Given the description of an element on the screen output the (x, y) to click on. 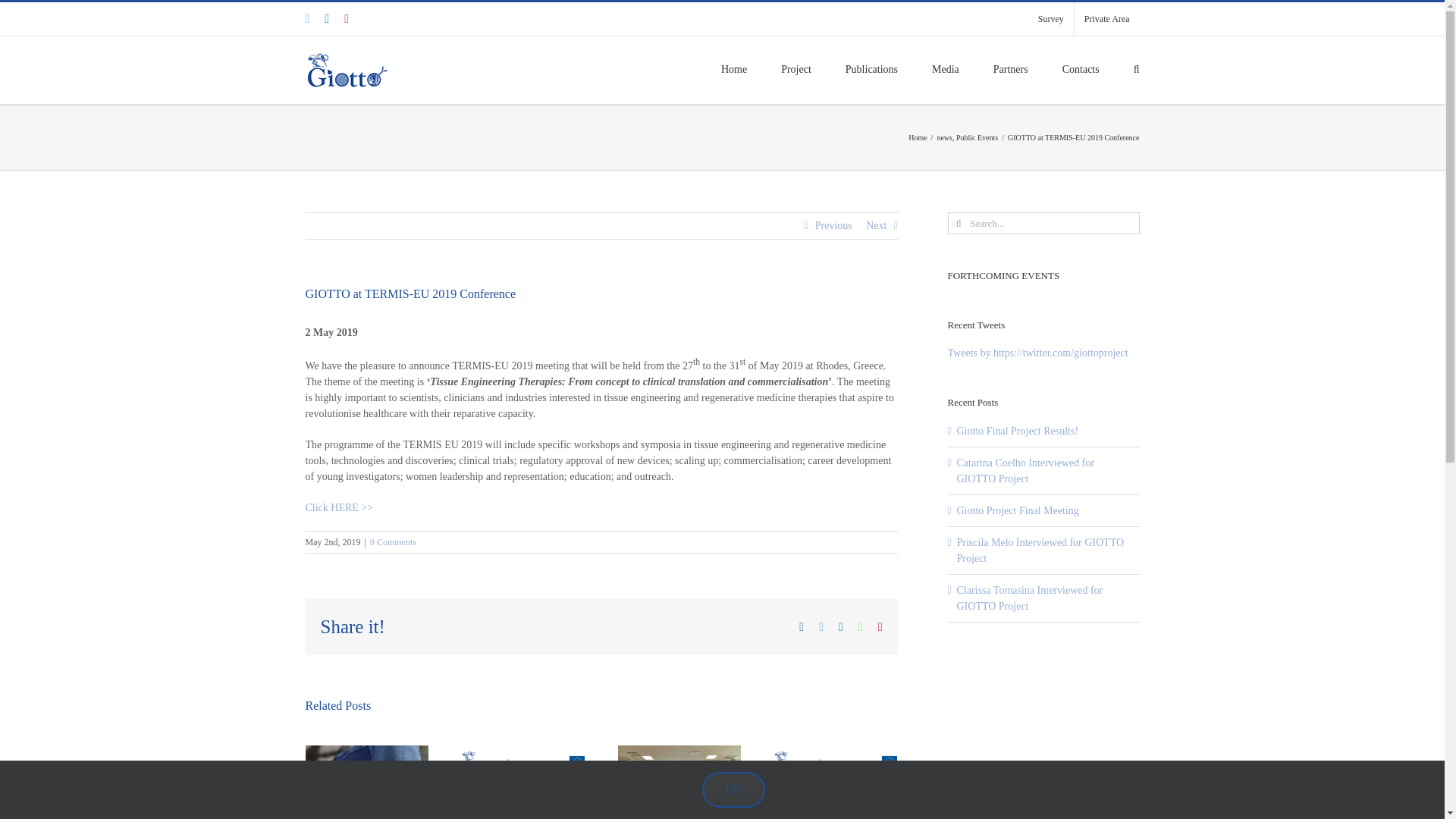
Publications (871, 67)
Twitter (306, 19)
Home (733, 67)
Search (1137, 67)
Project (795, 67)
Media (945, 67)
Contacts (1080, 67)
Survey (1050, 19)
Partners (1009, 67)
LinkedIn (326, 19)
YouTube (346, 19)
Private Area (1107, 19)
